Given the description of an element on the screen output the (x, y) to click on. 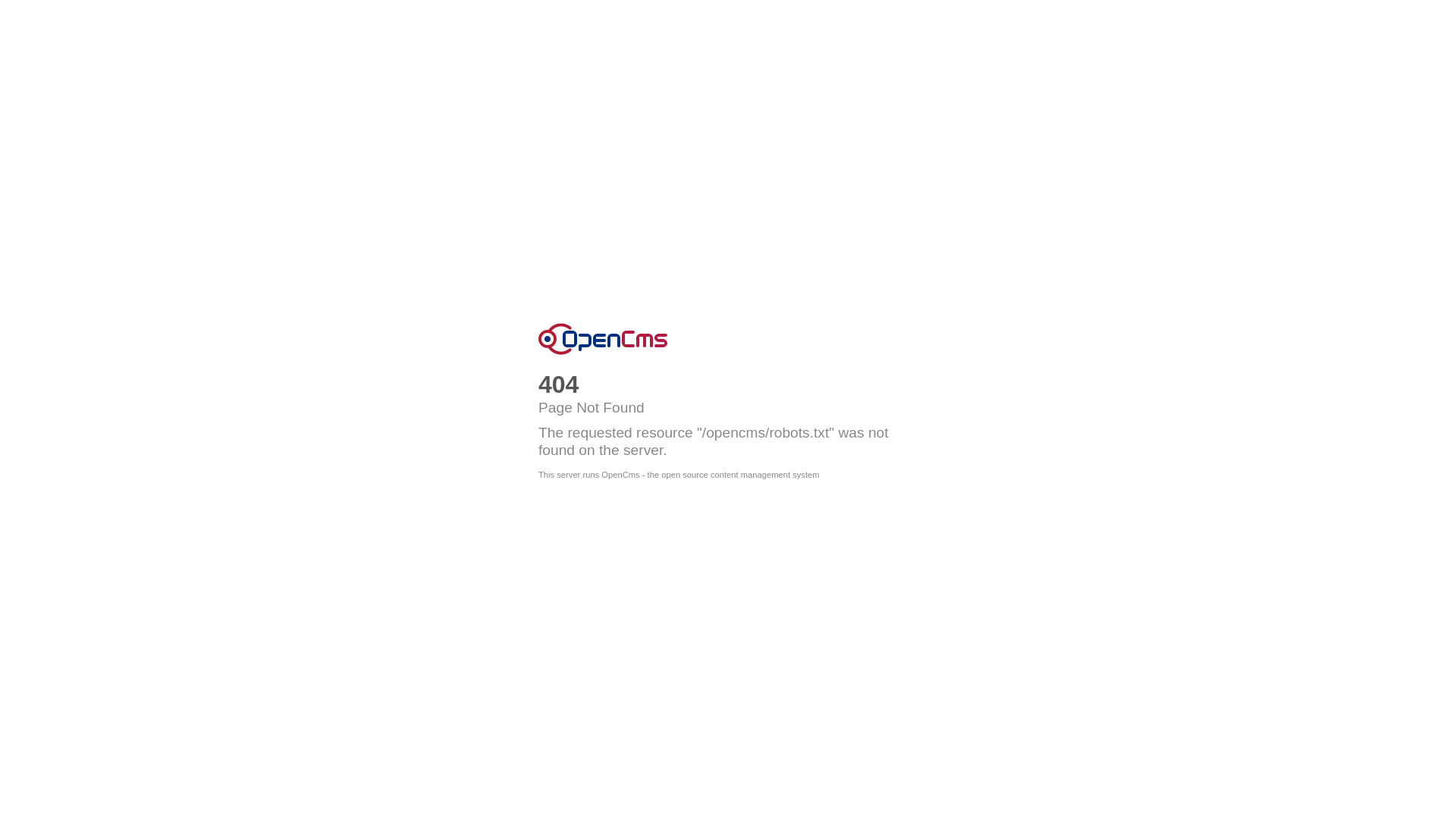
OpenCms Element type: text (602, 338)
